Given the description of an element on the screen output the (x, y) to click on. 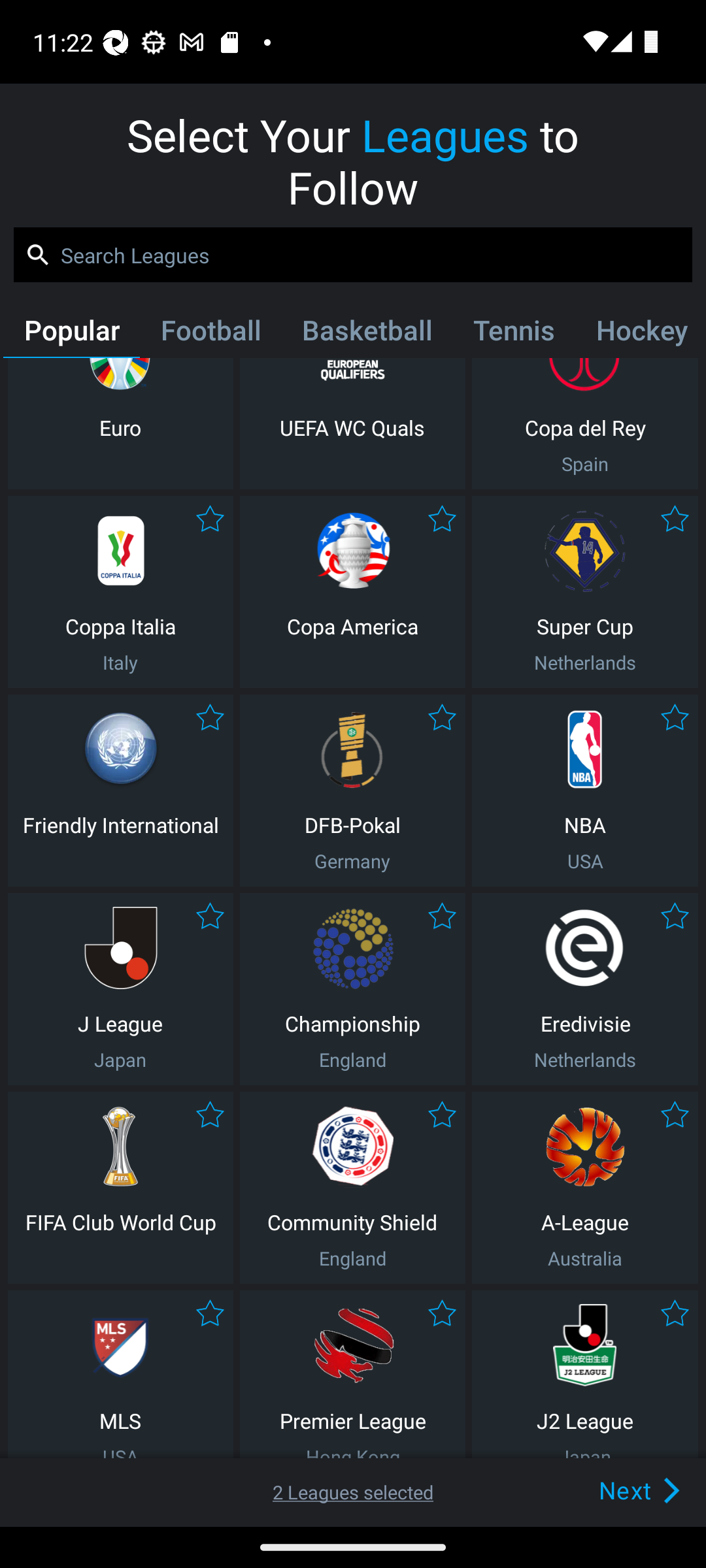
Search Leagues (352, 254)
Popular (71, 333)
Football (209, 333)
Basketball (366, 333)
Tennis (513, 333)
Hockey (638, 333)
Euro (120, 423)
UEFA WC Quals (352, 423)
Copa del Rey Spain (585, 423)
Coppa Italia Italy (120, 591)
Copa America (352, 591)
Super Cup Netherlands (585, 591)
Friendly International (120, 789)
DFB-Pokal Germany (352, 789)
NBA USA (585, 789)
J League Japan (120, 989)
Championship England (352, 989)
Eredivisie Netherlands (585, 989)
FIFA Club World Cup (120, 1187)
Community Shield England (352, 1187)
A-League Australia (585, 1187)
MLS USA (120, 1374)
Premier League Hong Kong (352, 1374)
J2 League Japan (585, 1374)
Next (609, 1489)
2 Leagues selected (352, 1491)
